Given the description of an element on the screen output the (x, y) to click on. 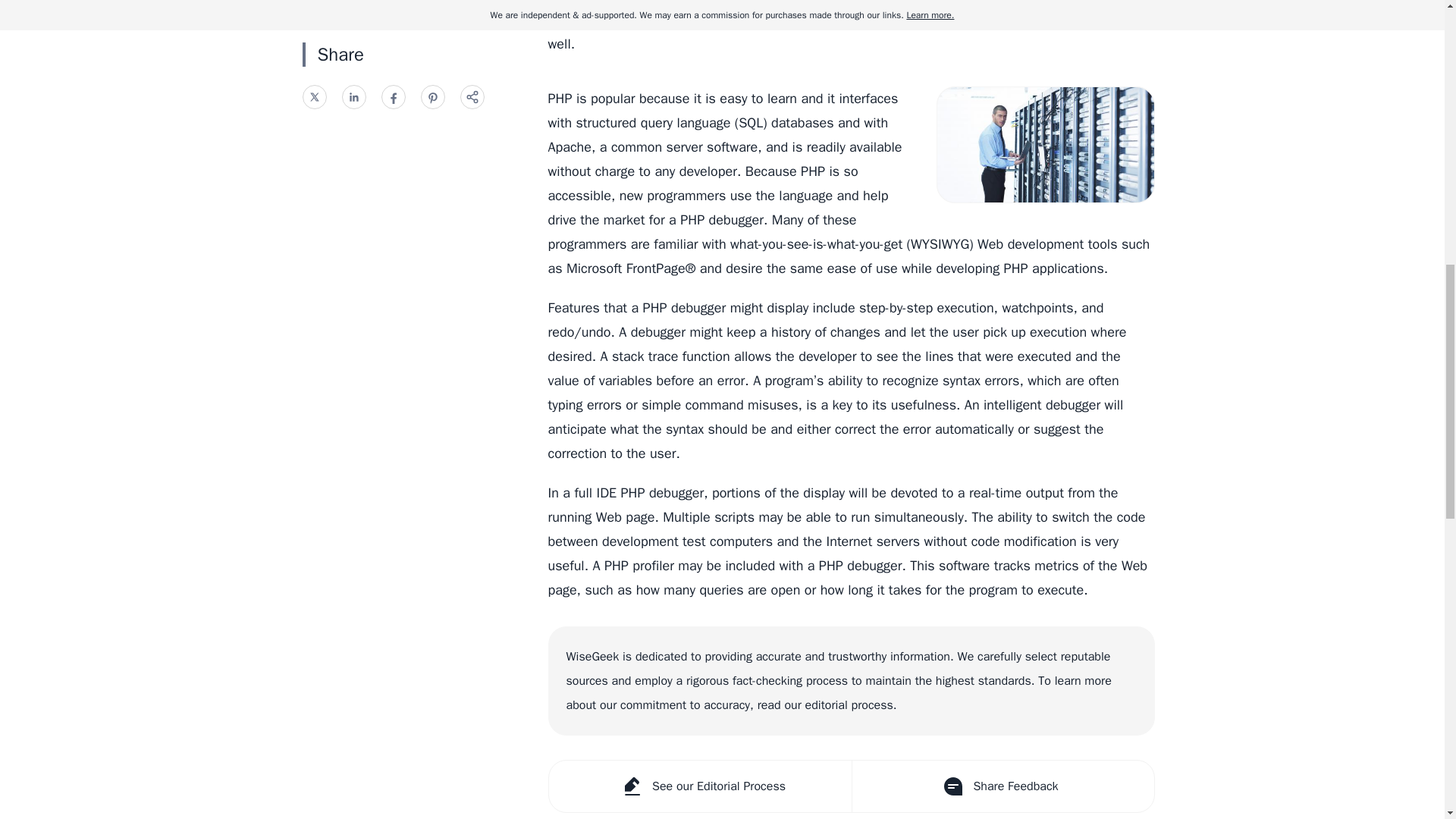
HTML (733, 2)
markup language (656, 2)
See our Editorial Process (699, 786)
Share Feedback (1001, 786)
